Given the description of an element on the screen output the (x, y) to click on. 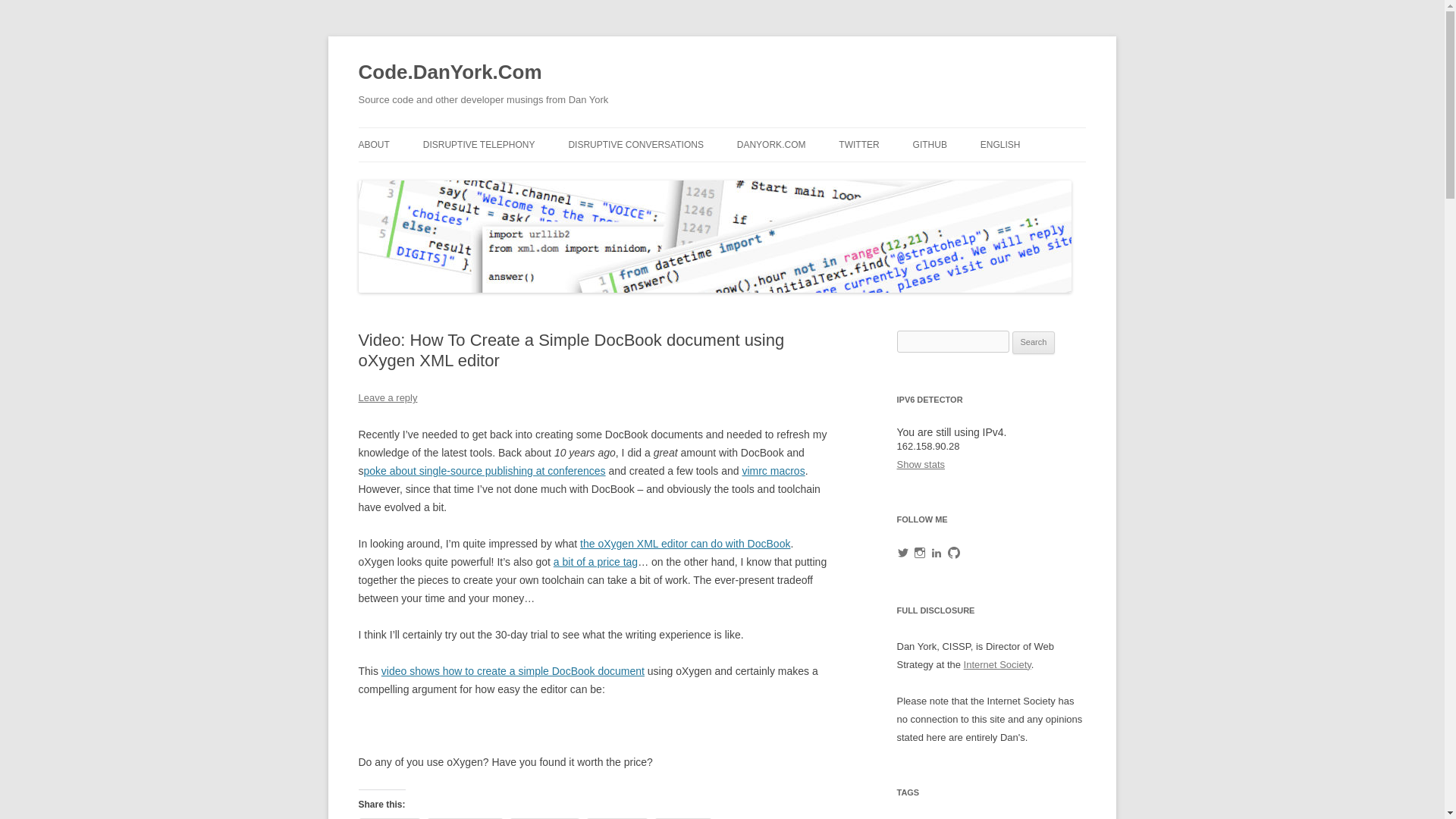
a bit of a price tag (595, 562)
poke about single-source publishing at conferences (484, 470)
ENGLISH (1055, 176)
Leave a reply (387, 397)
ABOUT (373, 144)
video shows how to create a simple DocBook document (513, 671)
TWITTER (858, 144)
the oXygen XML editor can do with DocBook (684, 543)
Search (1033, 342)
ENGLISH (999, 144)
Code.DanYork.Com (449, 72)
DISRUPTIVE TELEPHONY (479, 144)
Search (1033, 342)
GITHUB (929, 144)
